Given the description of an element on the screen output the (x, y) to click on. 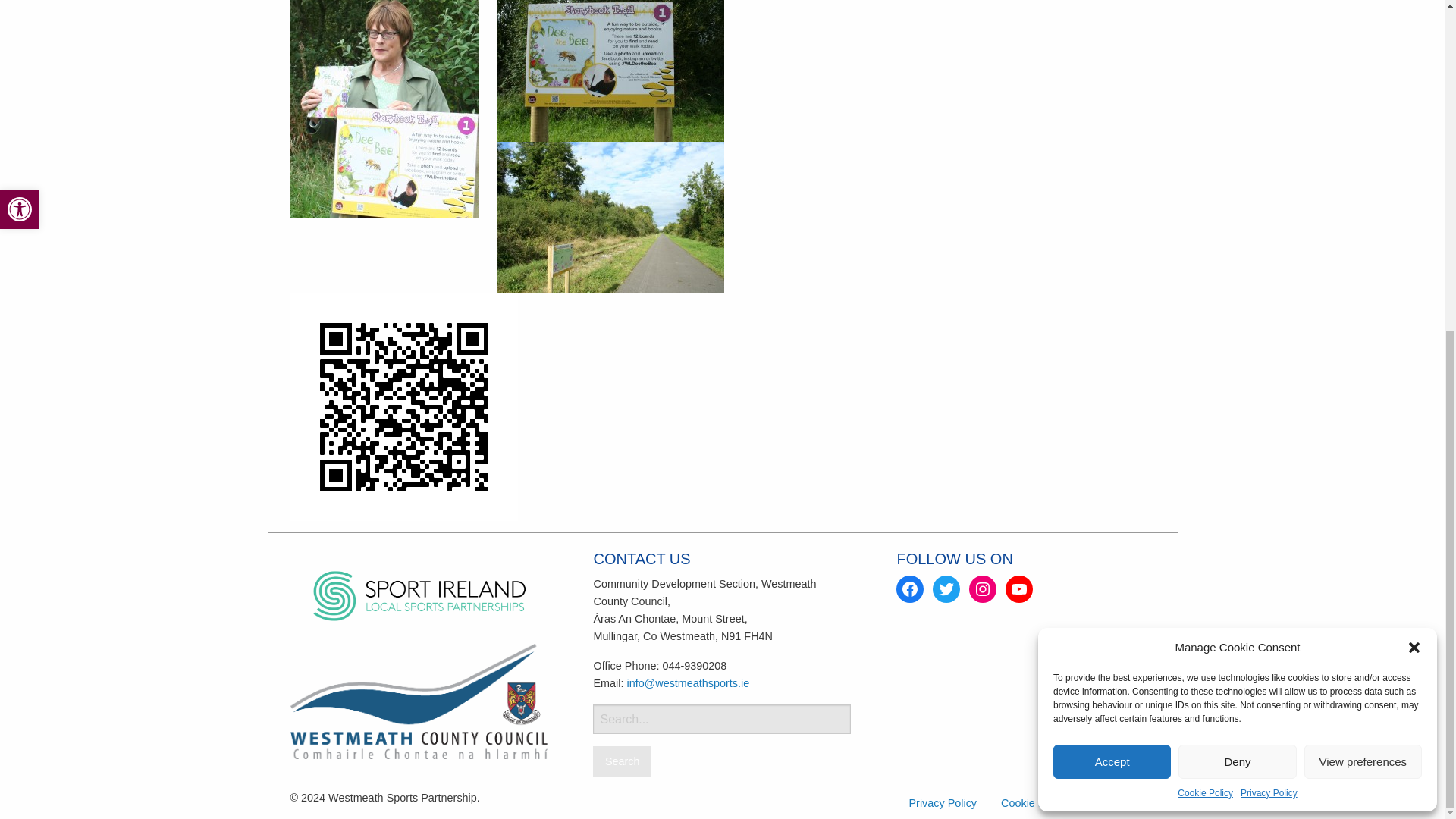
Accept (1111, 212)
Privacy Policy (1268, 243)
Search (621, 761)
View preferences (1363, 212)
Deny (1236, 212)
Search (621, 761)
Search for: (721, 718)
Cookie Policy (1205, 243)
